Given the description of an element on the screen output the (x, y) to click on. 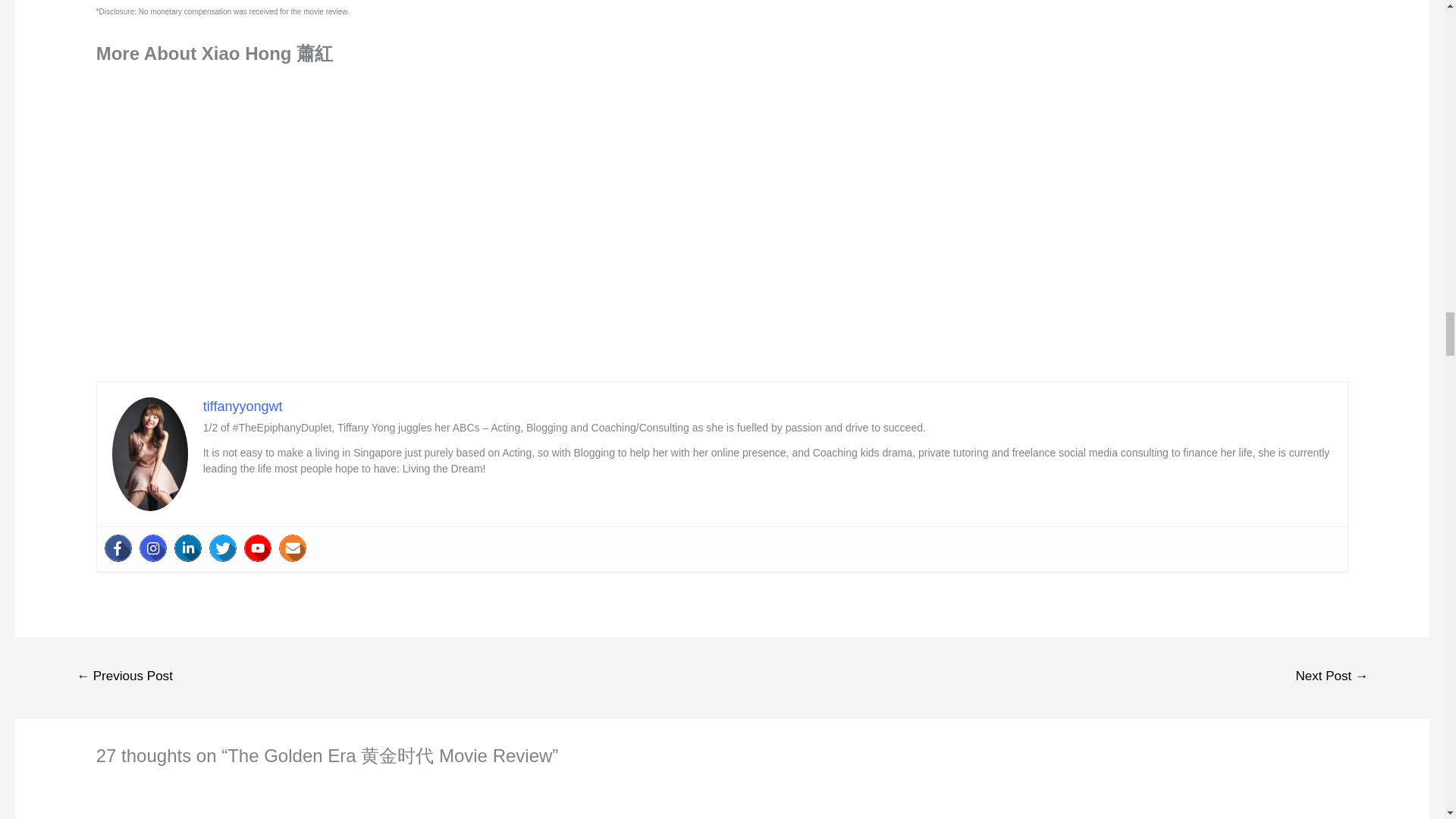
Linkedin (188, 547)
Youtube (257, 547)
Twitter (222, 547)
Facebook (118, 547)
tiffanyyongwt (242, 406)
User email (292, 547)
Instagram (153, 547)
